Given the description of an element on the screen output the (x, y) to click on. 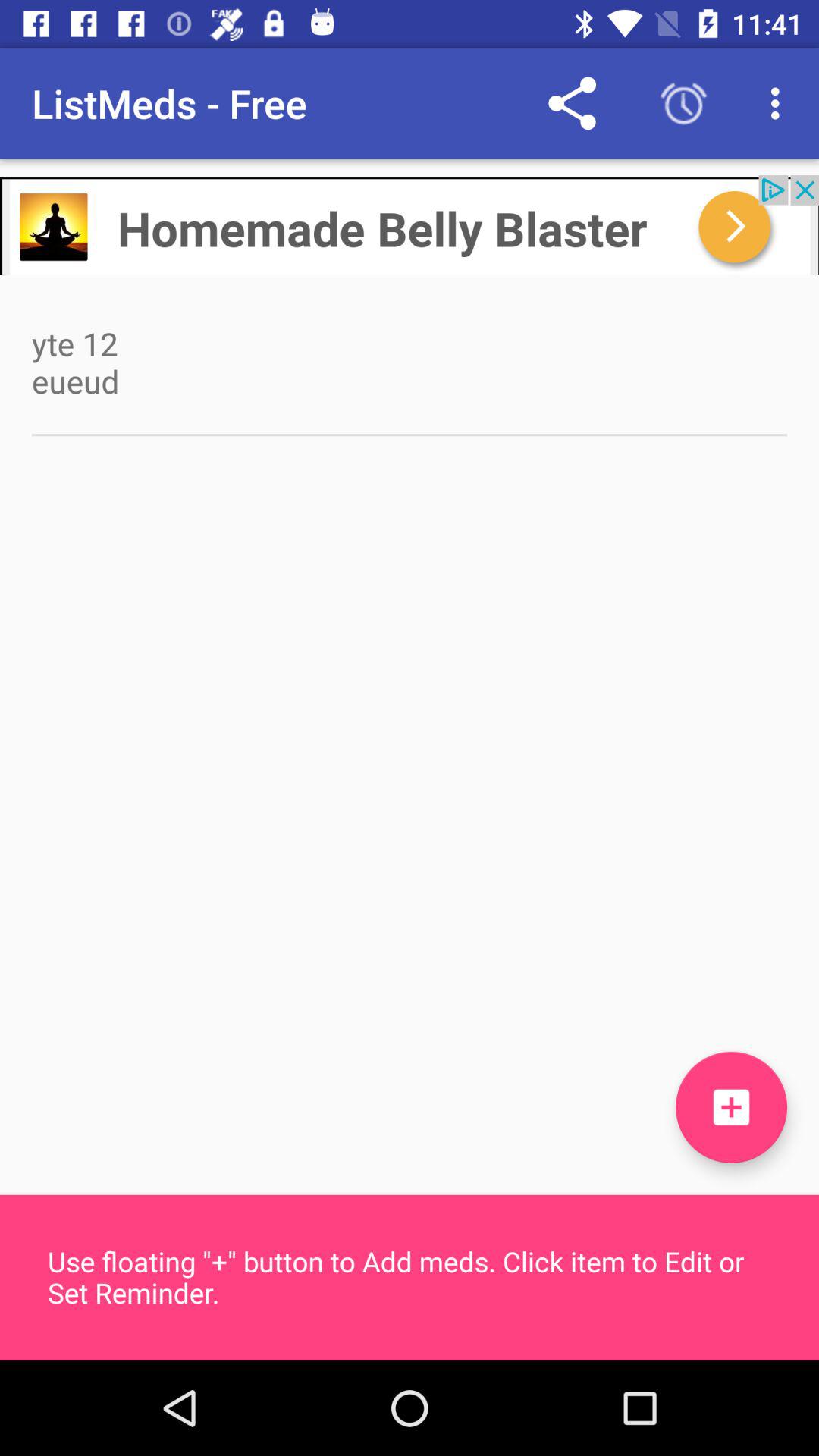
add to favorites (731, 1107)
